Given the description of an element on the screen output the (x, y) to click on. 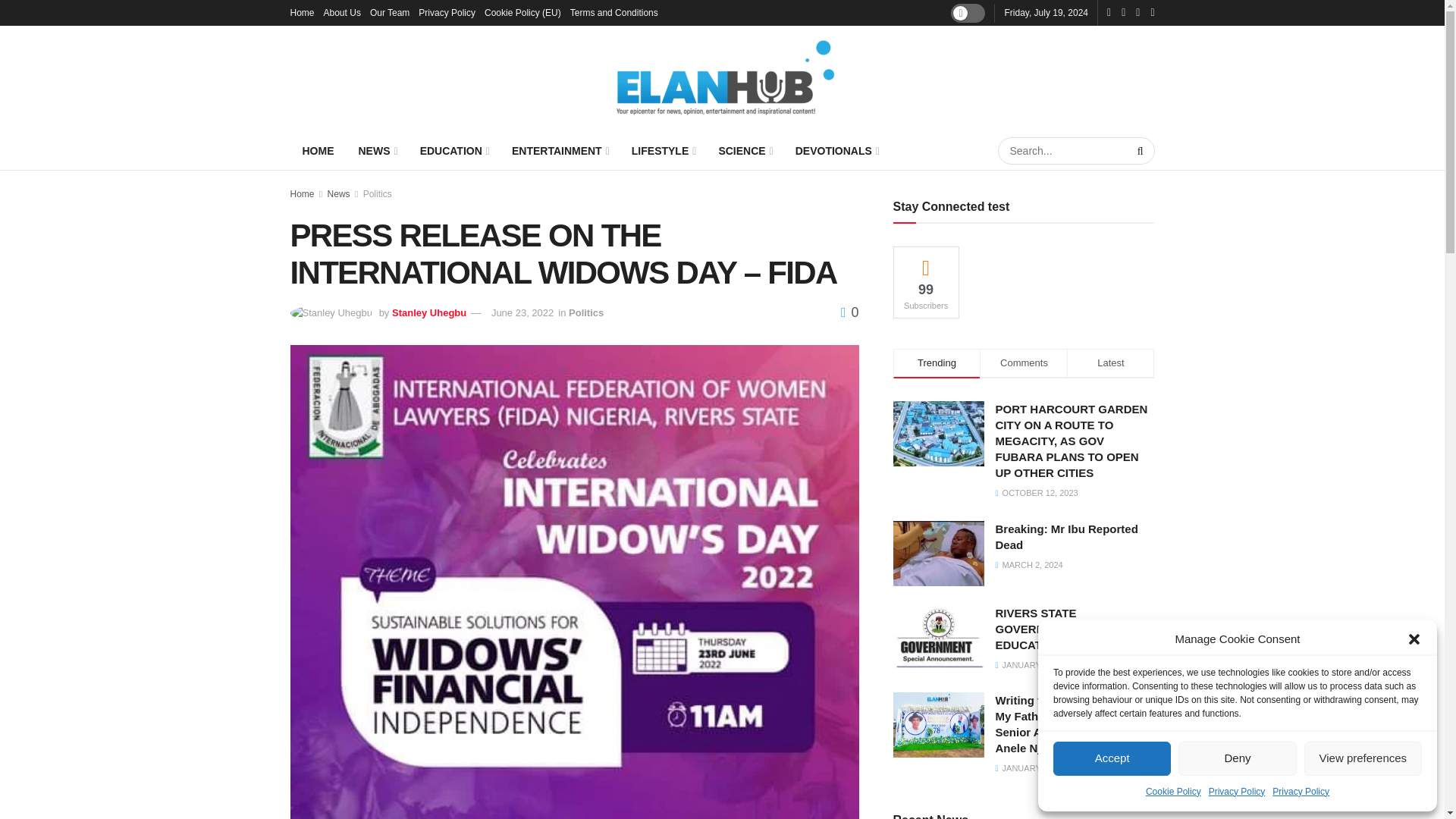
LIFESTYLE (663, 150)
ENTERTAINMENT (559, 150)
Deny (1236, 758)
Privacy Policy (447, 12)
Terms and Conditions (614, 12)
NEWS (376, 150)
EDUCATION (453, 150)
Accept (1111, 758)
About Us (342, 12)
Cookie Policy (1173, 791)
View preferences (1363, 758)
Privacy Policy (1300, 791)
Our Team (389, 12)
HOME (317, 150)
Privacy Policy (1236, 791)
